Given the description of an element on the screen output the (x, y) to click on. 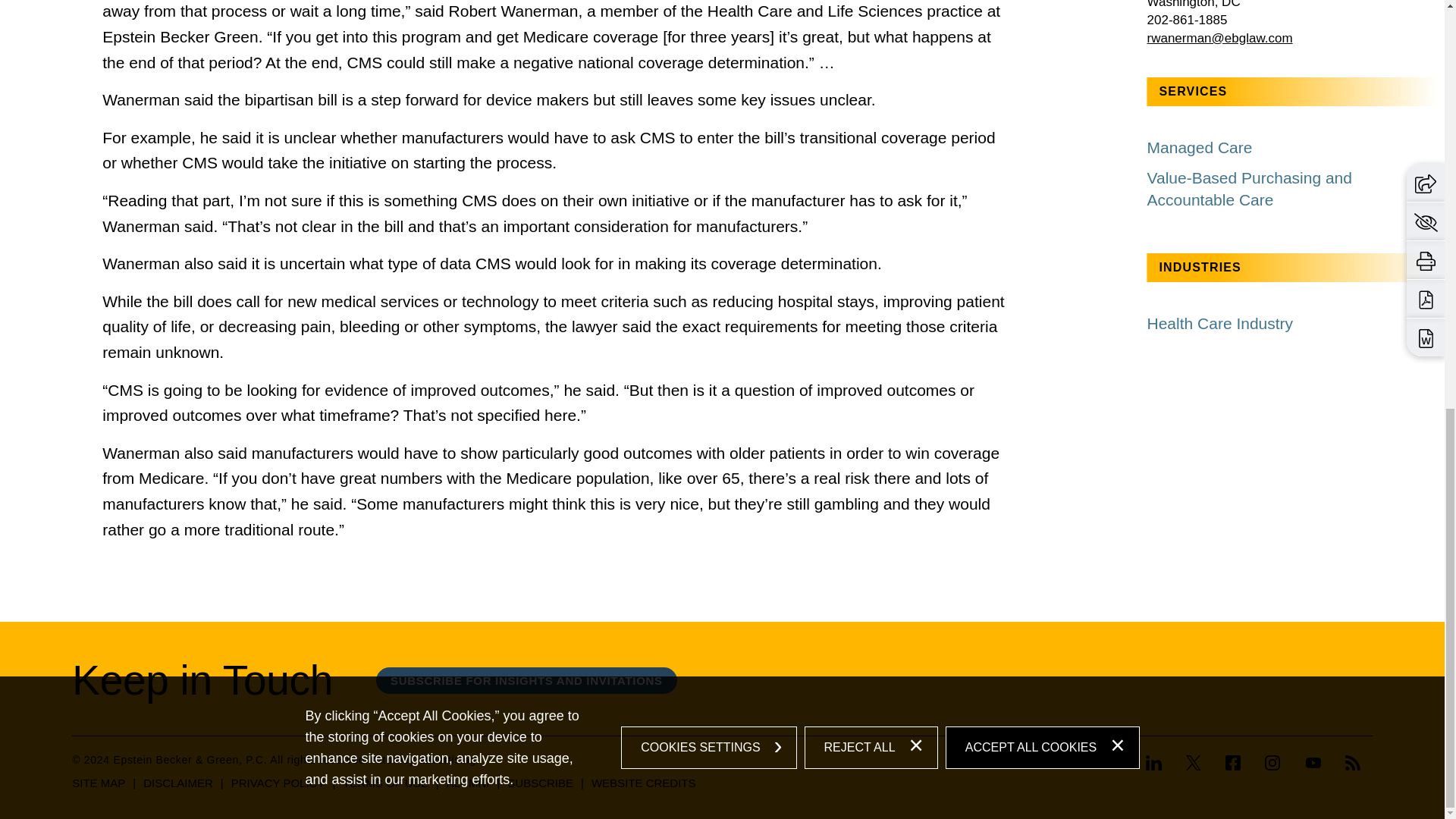
Facebook (1232, 764)
Facebook (1232, 762)
Twitter (1193, 762)
Linkedin (1153, 762)
Youtube (1313, 762)
RSS (1352, 762)
Instagram (1273, 762)
Instagram (1273, 764)
Twitter (1192, 764)
Linkedin (1159, 764)
Youtube (1313, 764)
